Given the description of an element on the screen output the (x, y) to click on. 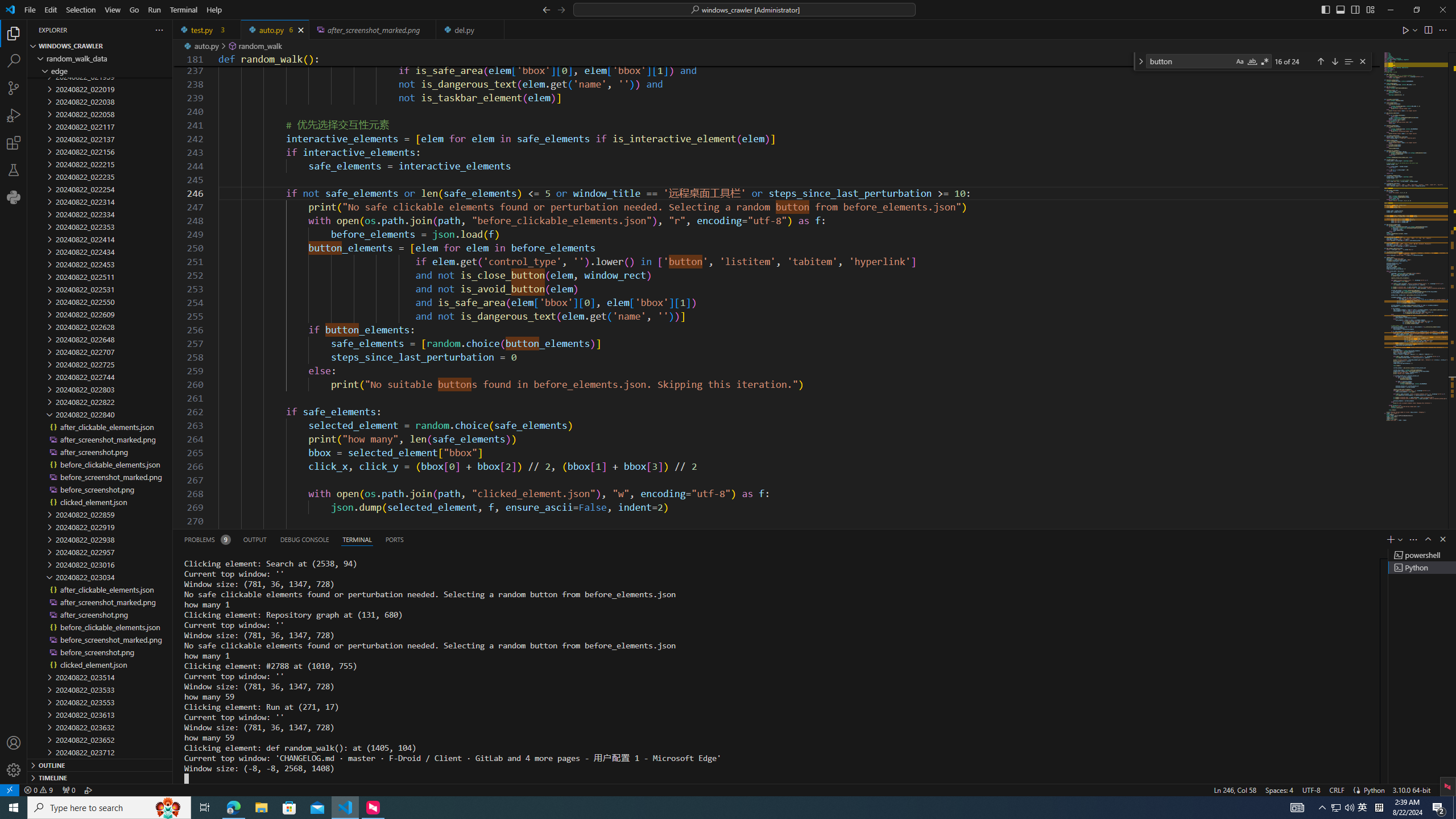
Spaces: 4 (1278, 789)
Run Python File (1405, 29)
Help (214, 9)
Outline Section (99, 764)
Maximize Panel Size (1428, 539)
UTF-8 (1310, 789)
Terminal 1 powershell (1422, 554)
Manage (13, 769)
Go (134, 9)
Title actions (1347, 9)
test.py (207, 29)
Customize Layout... (1369, 9)
Find in Selection (Alt+L) (1348, 60)
